Given the description of an element on the screen output the (x, y) to click on. 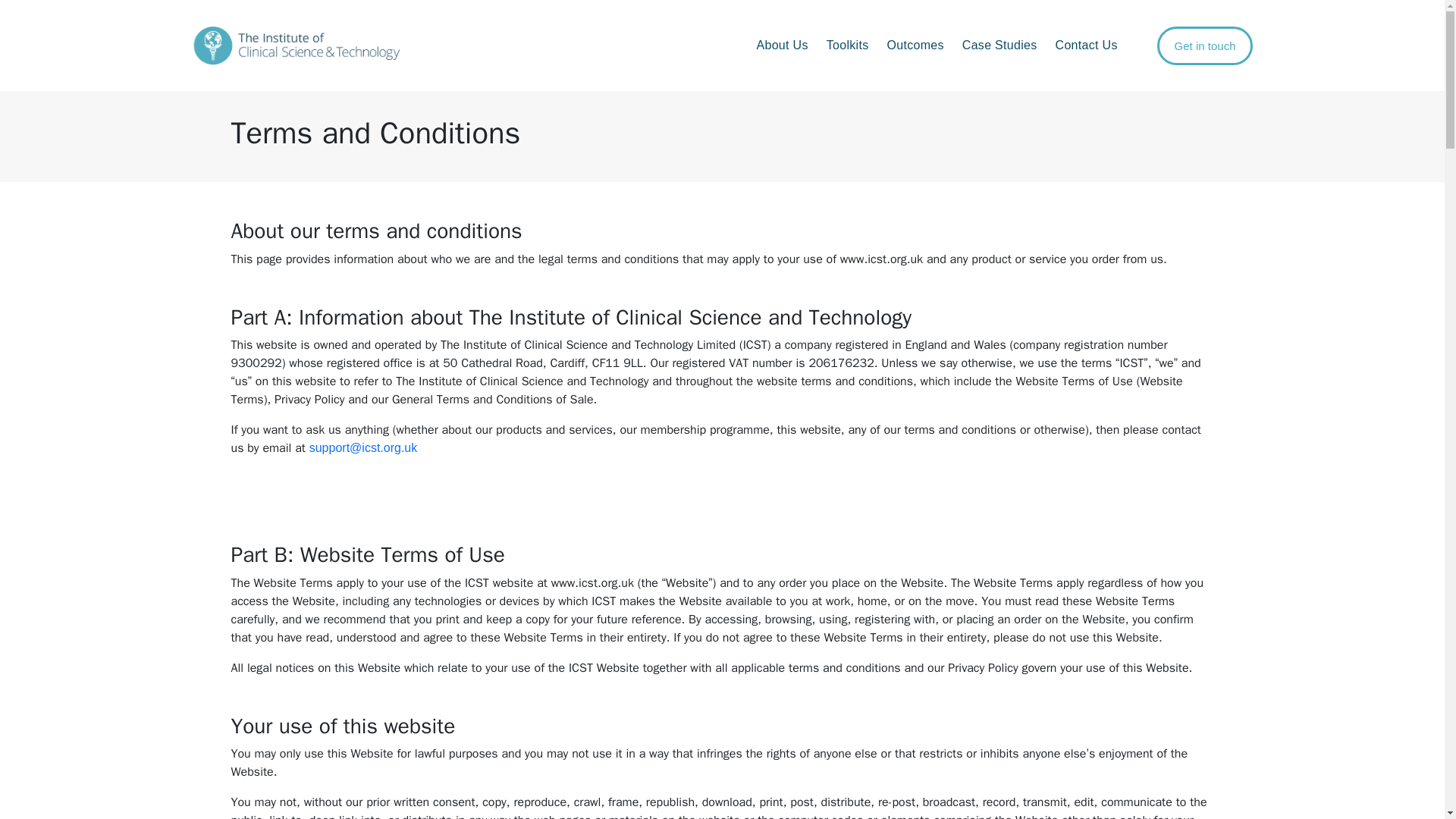
Contact Us (1086, 45)
Case Studies (999, 45)
Toolkits (846, 45)
Get in touch (1205, 44)
Outcomes (914, 45)
About Us (781, 45)
